Given the description of an element on the screen output the (x, y) to click on. 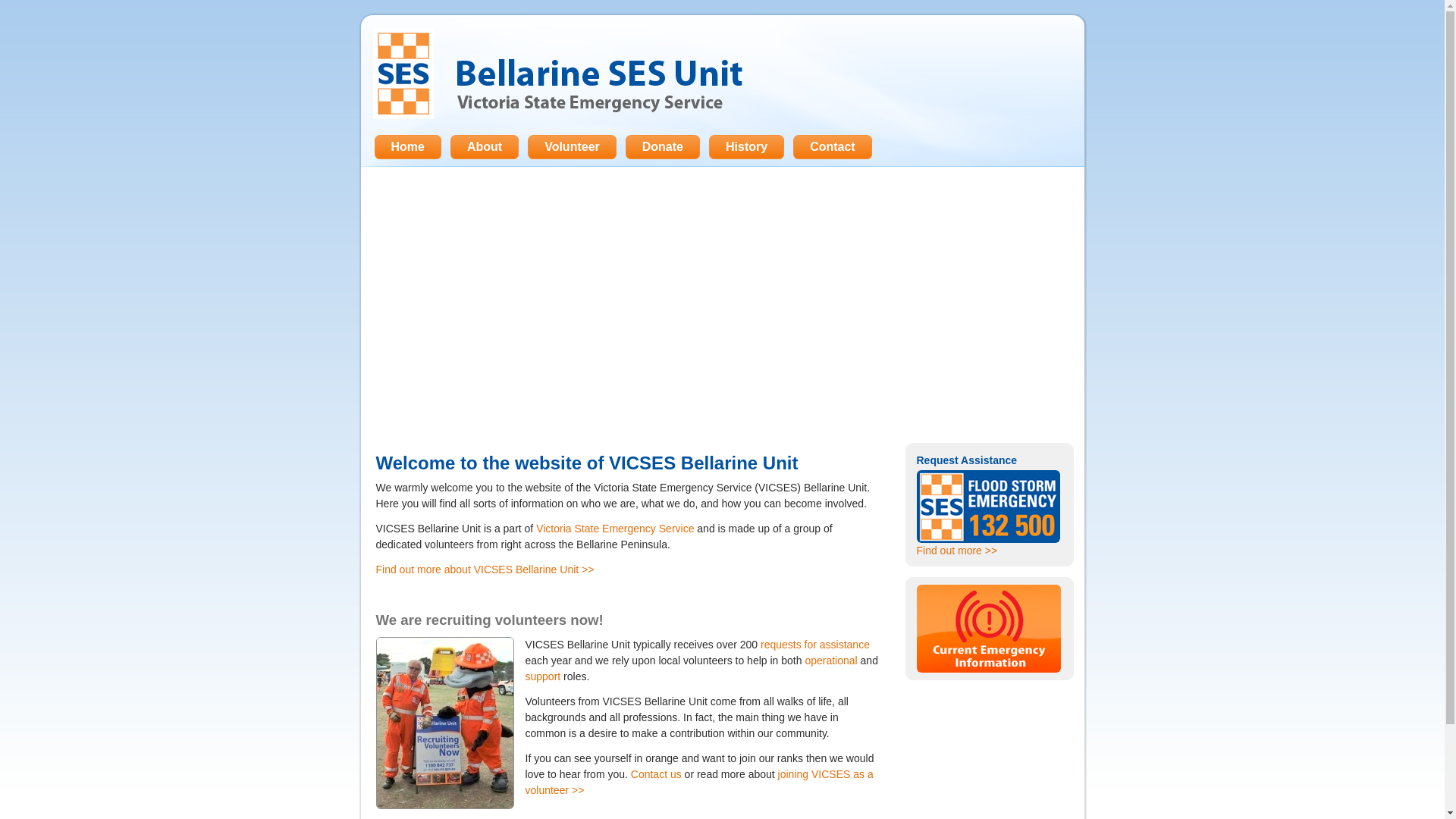
Contact us Element type: text (655, 774)
Find out more >> Element type: text (956, 550)
Volunteer Element type: text (571, 146)
joining VICSES as a volunteer >> Element type: text (698, 782)
Find out more about VICSES Bellarine Unit >> Element type: text (485, 569)
Victoria State Emergency Service Element type: text (614, 528)
About Element type: text (484, 146)
support Element type: text (542, 676)
Home Element type: text (407, 146)
Donate Element type: text (662, 146)
History Element type: text (746, 146)
operational Element type: text (830, 660)
requests for assistance Element type: text (814, 644)
Contact Element type: text (832, 146)
